Given the description of an element on the screen output the (x, y) to click on. 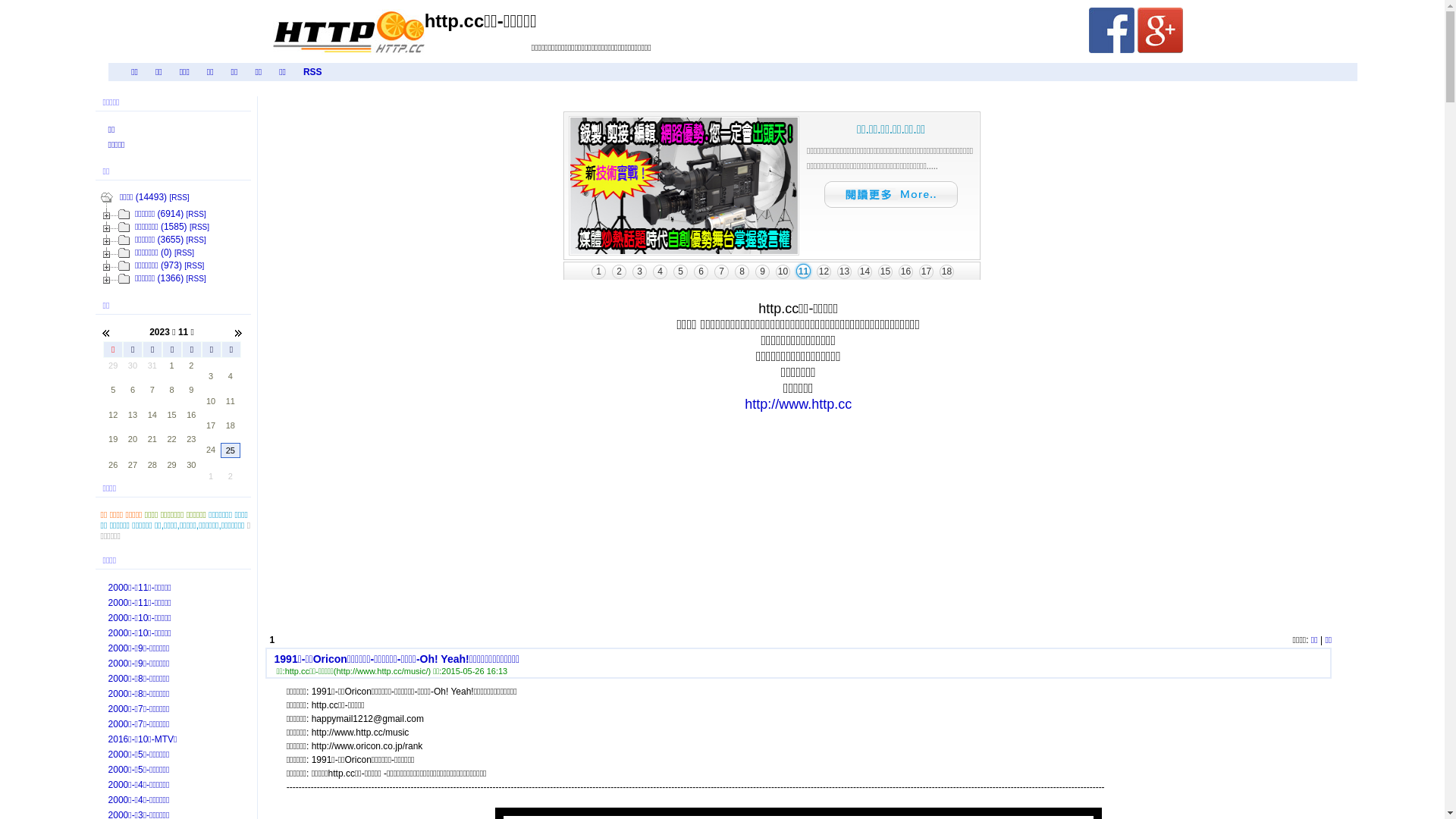
http://www.http.cc Element type: text (797, 403)
2 Element type: text (190, 365)
11 Element type: text (230, 400)
3 Element type: text (210, 375)
21 Element type: text (152, 438)
29 Element type: text (172, 464)
20 Element type: text (132, 438)
30 Element type: text (190, 464)
12 Element type: text (112, 414)
[RSS] Element type: text (199, 226)
24 Element type: text (210, 449)
1 Element type: text (210, 476)
9 Element type: text (190, 389)
2 Element type: text (230, 476)
28 Element type: text (152, 464)
5 Element type: text (112, 389)
26 Element type: text (112, 464)
[RSS] Element type: text (193, 265)
29 Element type: text (112, 365)
1 Element type: text (172, 365)
27 Element type: text (132, 464)
18 Element type: text (230, 425)
7 Element type: text (152, 389)
[RSS] Element type: text (196, 239)
22 Element type: text (172, 438)
19 Element type: text (112, 438)
Advertisement Element type: hover (689, 520)
25 Element type: text (230, 450)
4 Element type: text (230, 375)
Advertisement Element type: hover (917, 520)
31 Element type: text (152, 365)
17 Element type: text (210, 425)
16 Element type: text (190, 414)
RSS Element type: text (312, 70)
8 Element type: text (172, 389)
[RSS] Element type: text (184, 252)
14 Element type: text (152, 414)
30 Element type: text (132, 365)
23 Element type: text (190, 438)
[RSS] Element type: text (196, 214)
15 Element type: text (172, 414)
13 Element type: text (132, 414)
6 Element type: text (132, 389)
[RSS] Element type: text (178, 197)
10 Element type: text (210, 400)
[RSS] Element type: text (196, 278)
